Given the description of an element on the screen output the (x, y) to click on. 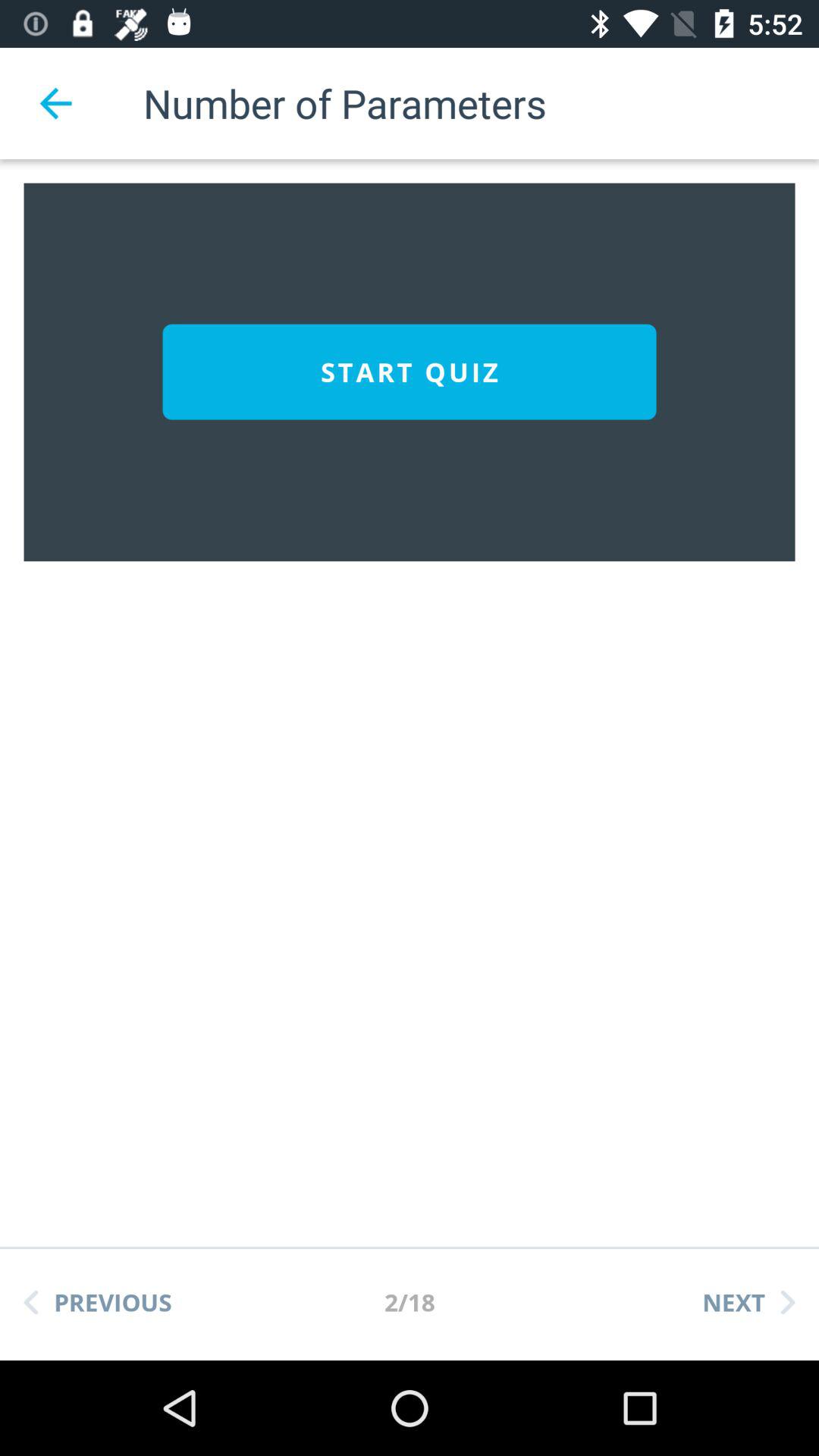
turn off the icon next to the 2/18 item (748, 1302)
